Given the description of an element on the screen output the (x, y) to click on. 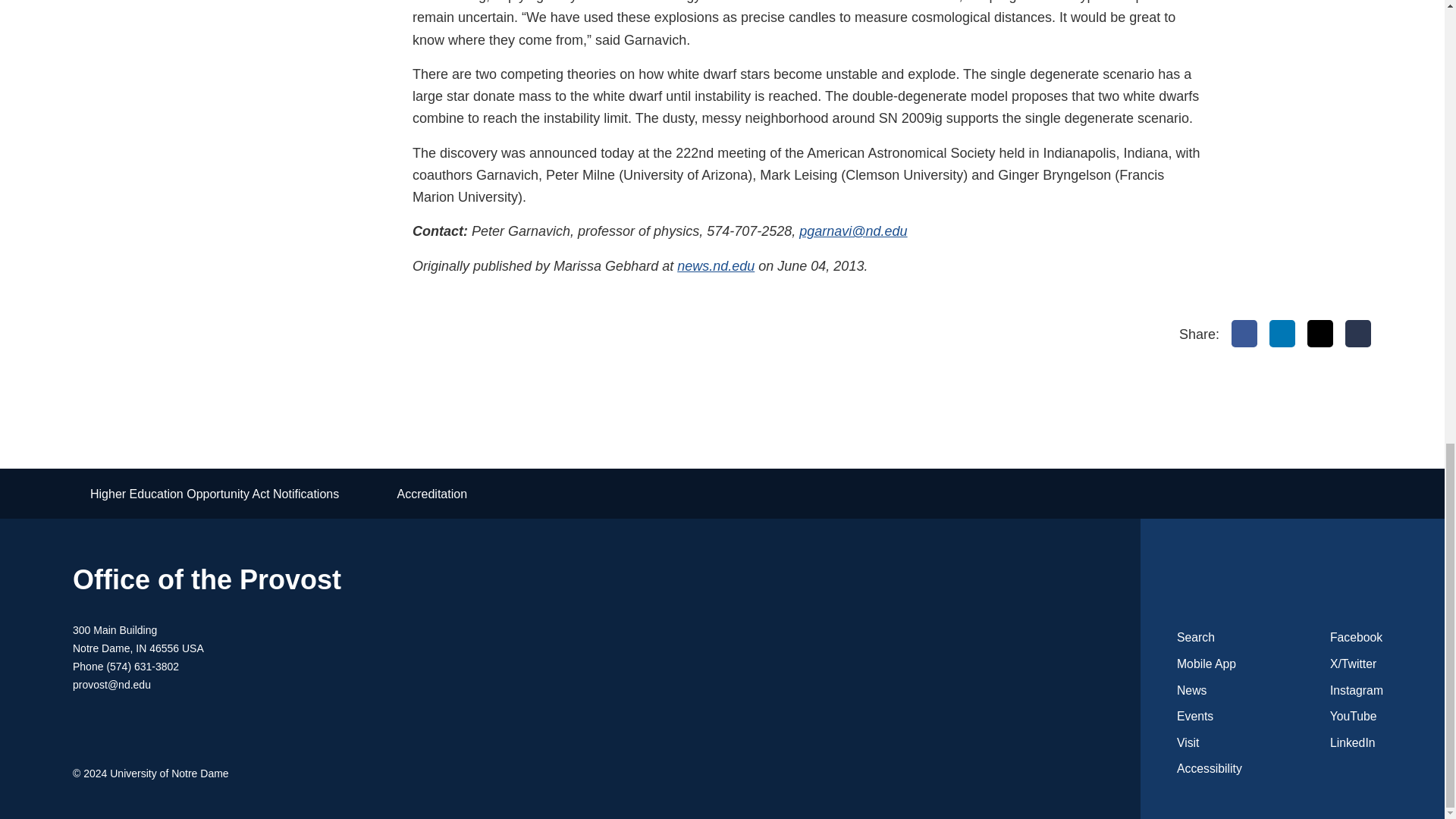
Email (1358, 333)
news.nd.edu (715, 265)
Facebook (1244, 333)
LinkedIn (1282, 333)
